Given the description of an element on the screen output the (x, y) to click on. 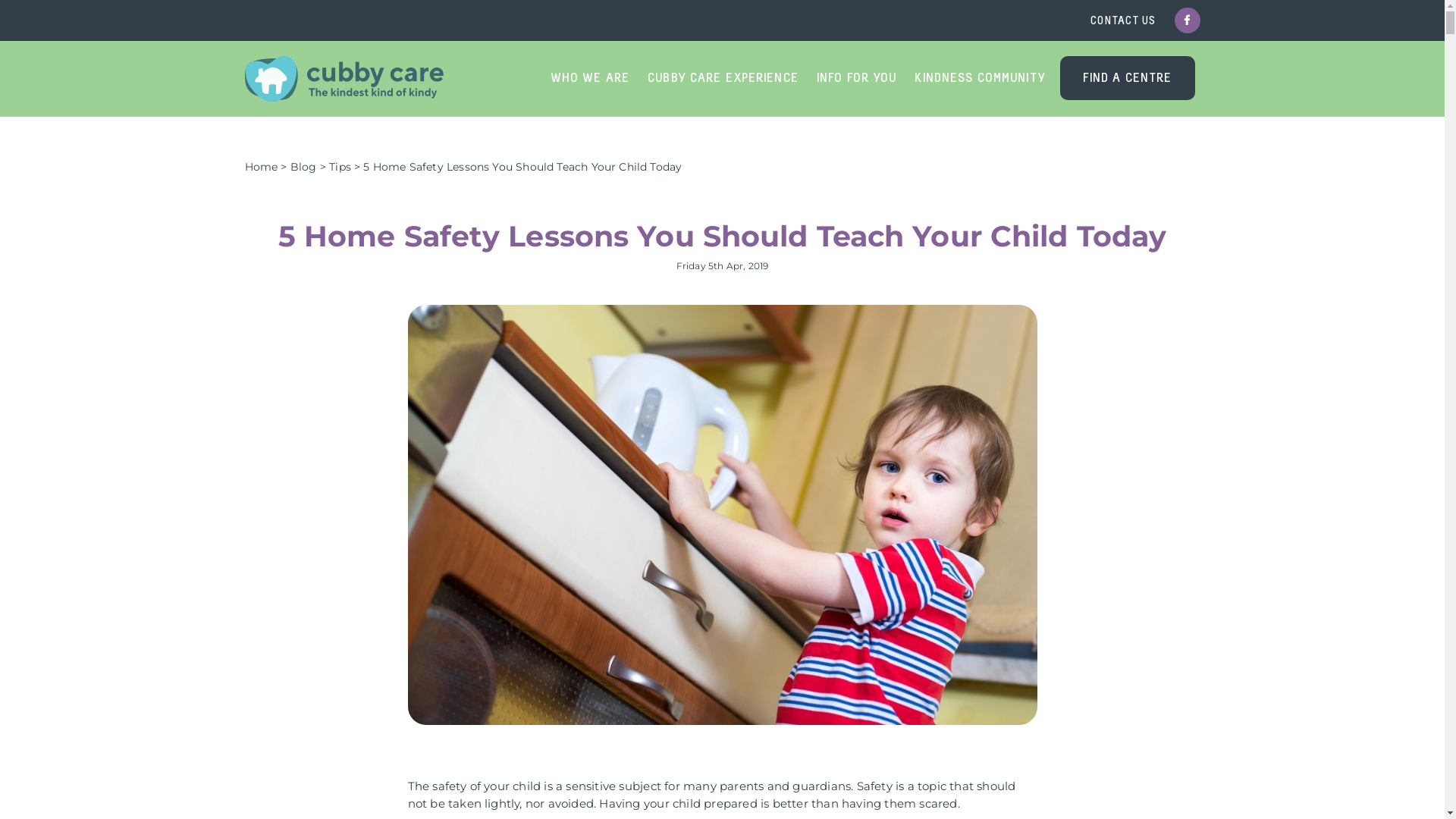
CUBBY CARE EXPERIENCE Element type: text (722, 78)
Home Element type: text (260, 166)
Blog Element type: text (303, 166)
CONTACT US Element type: text (1122, 21)
WHO WE ARE Element type: text (589, 78)
KINDNESS COMMUNITY Element type: text (979, 78)
INFO FOR YOU Element type: text (856, 78)
Tips Element type: text (340, 166)
FIND A CENTRE Element type: text (1127, 78)
